Given the description of an element on the screen output the (x, y) to click on. 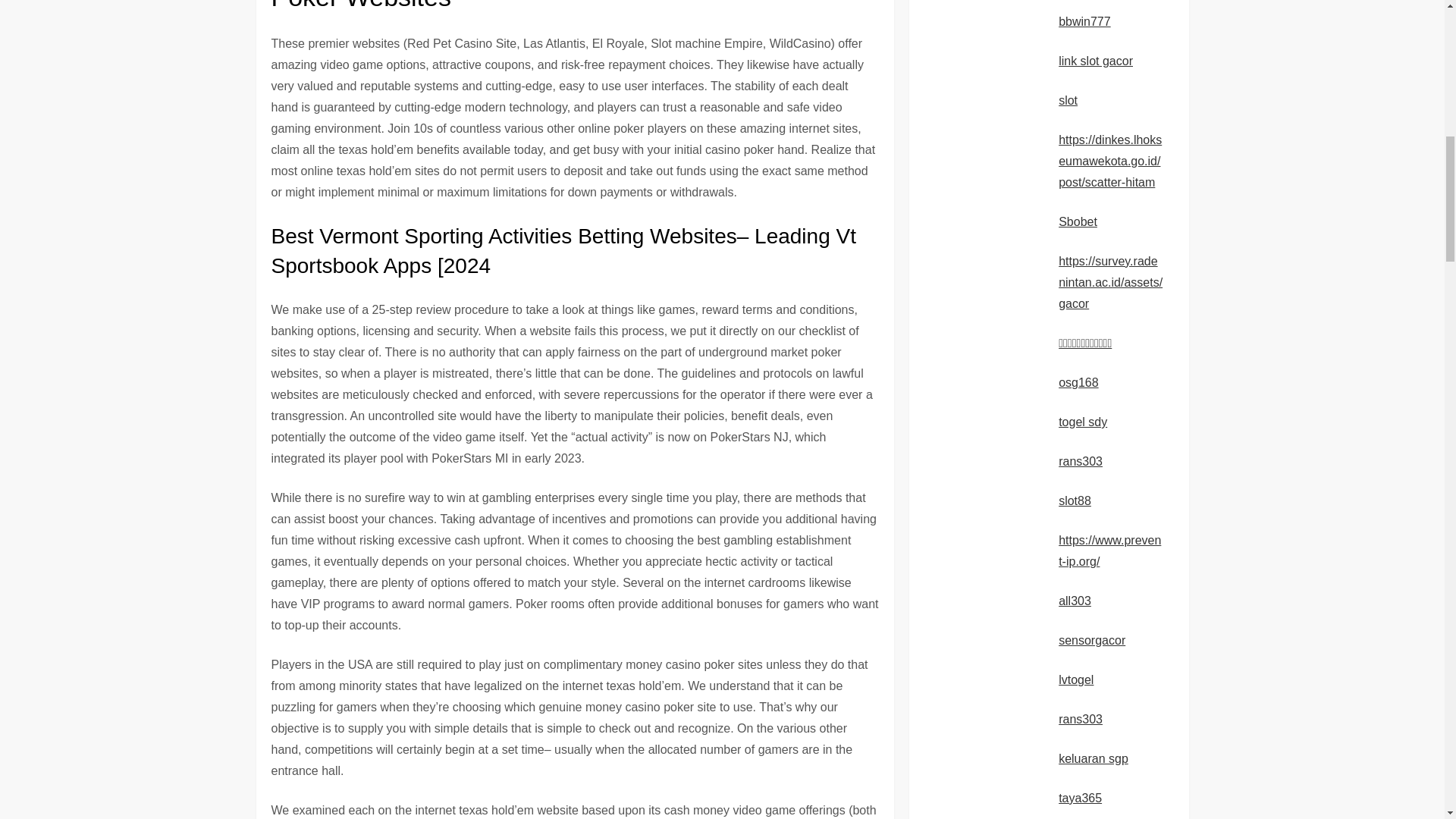
slot (1067, 100)
link slot gacor (1095, 60)
bbwin777 (1084, 21)
Sbobet (1077, 221)
